Given the description of an element on the screen output the (x, y) to click on. 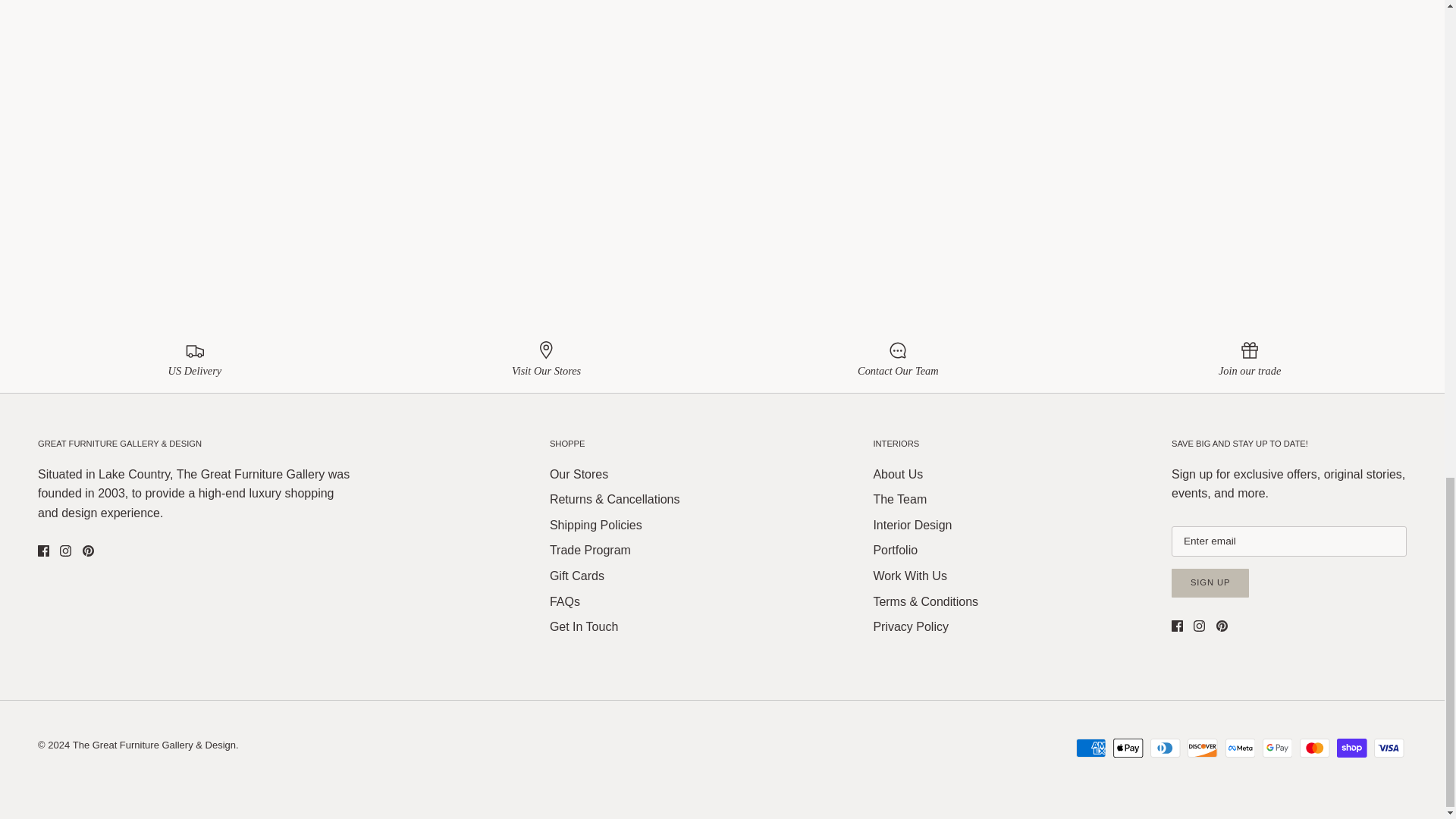
Instagram (1199, 625)
Pinterest (88, 550)
Facebook (1177, 625)
Instagram (65, 550)
American Express (1090, 747)
Pinterest (1221, 625)
Facebook (43, 550)
